Given the description of an element on the screen output the (x, y) to click on. 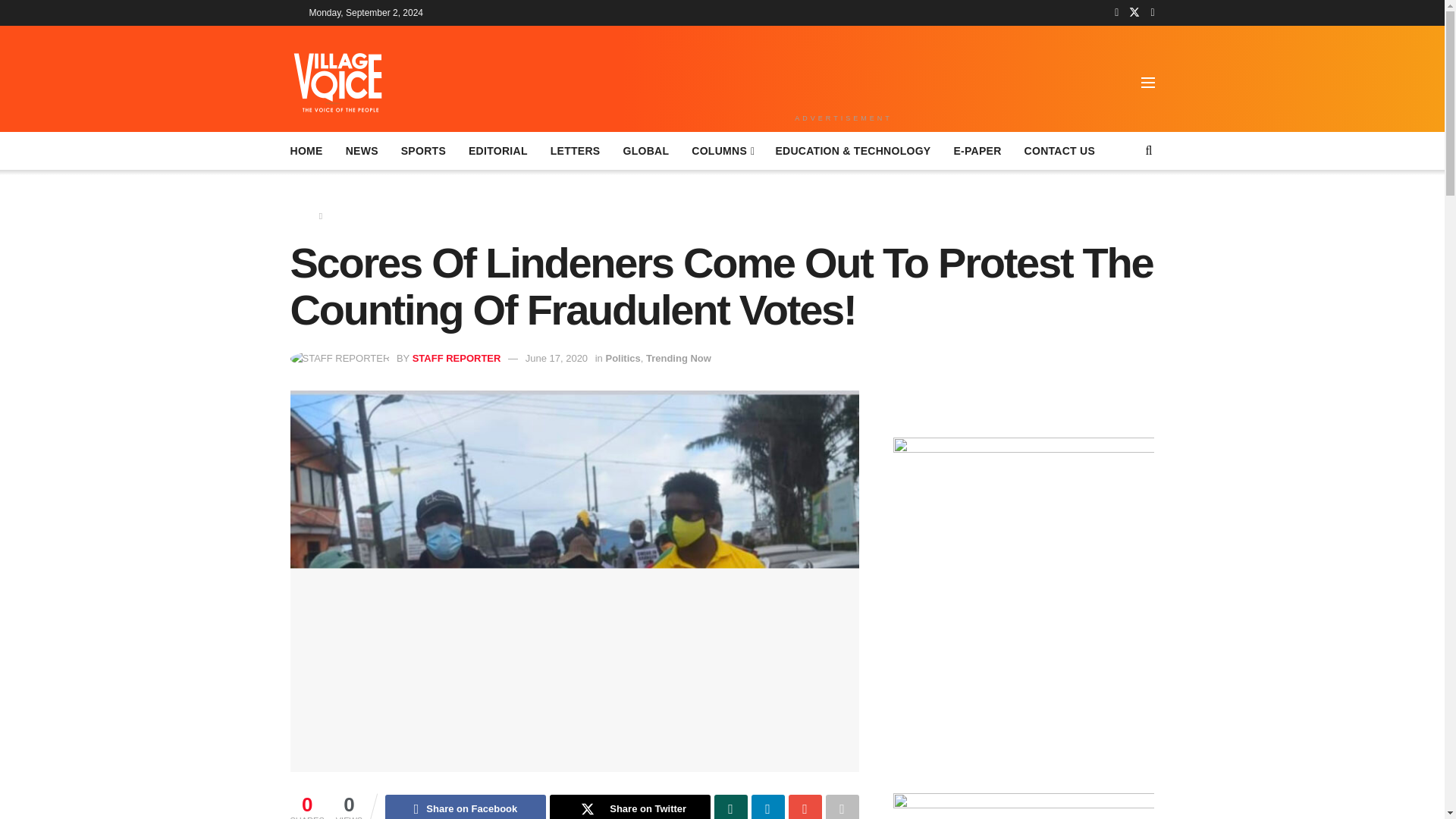
HOME (305, 150)
SPORTS (423, 150)
COLUMNS (721, 150)
LETTERS (574, 150)
NEWS (362, 150)
CONTACT US (1060, 150)
E-PAPER (977, 150)
GLOBAL (645, 150)
EDITORIAL (497, 150)
